Given the description of an element on the screen output the (x, y) to click on. 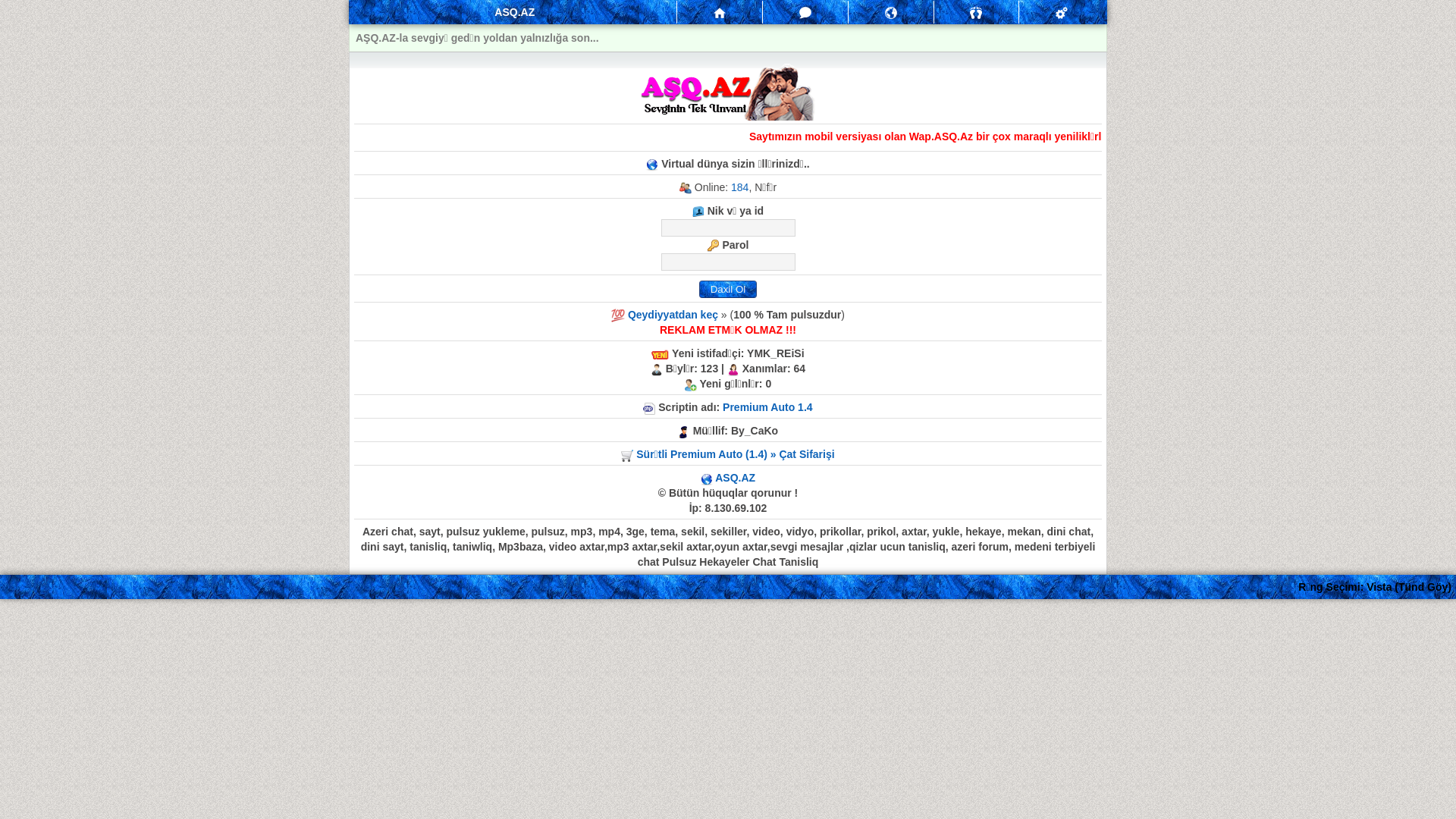
Mesajlar Element type: hover (804, 11)
Qonaqlar Element type: hover (975, 12)
Premium Auto 1.4 Element type: text (767, 407)
Parol Element type: hover (728, 261)
Bildirisler Element type: hover (890, 11)
Mesajlar Element type: hover (805, 12)
Bildirisler Element type: hover (890, 12)
nick Element type: hover (728, 227)
Ana Sehife Element type: hover (719, 12)
184 Element type: text (739, 187)
Daxil Ol Element type: text (727, 289)
ASQ.AZ Element type: text (735, 477)
Mesajlar Element type: hover (719, 11)
Qonaqlar Element type: hover (976, 11)
